Given the description of an element on the screen output the (x, y) to click on. 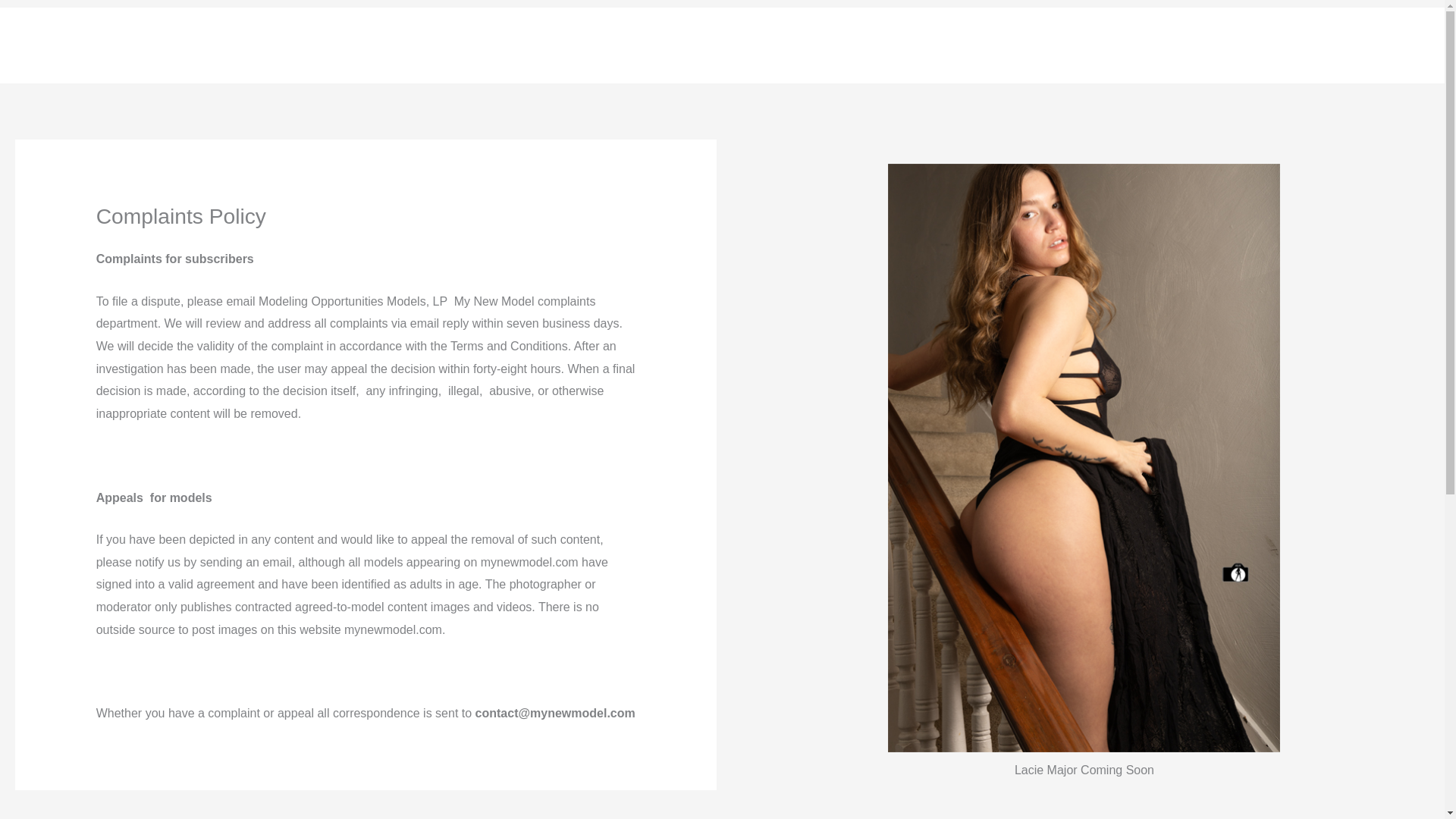
UPDATED MODELS (1212, 45)
MODELS (1107, 45)
MODEL OF THE MONTH (987, 45)
